Given the description of an element on the screen output the (x, y) to click on. 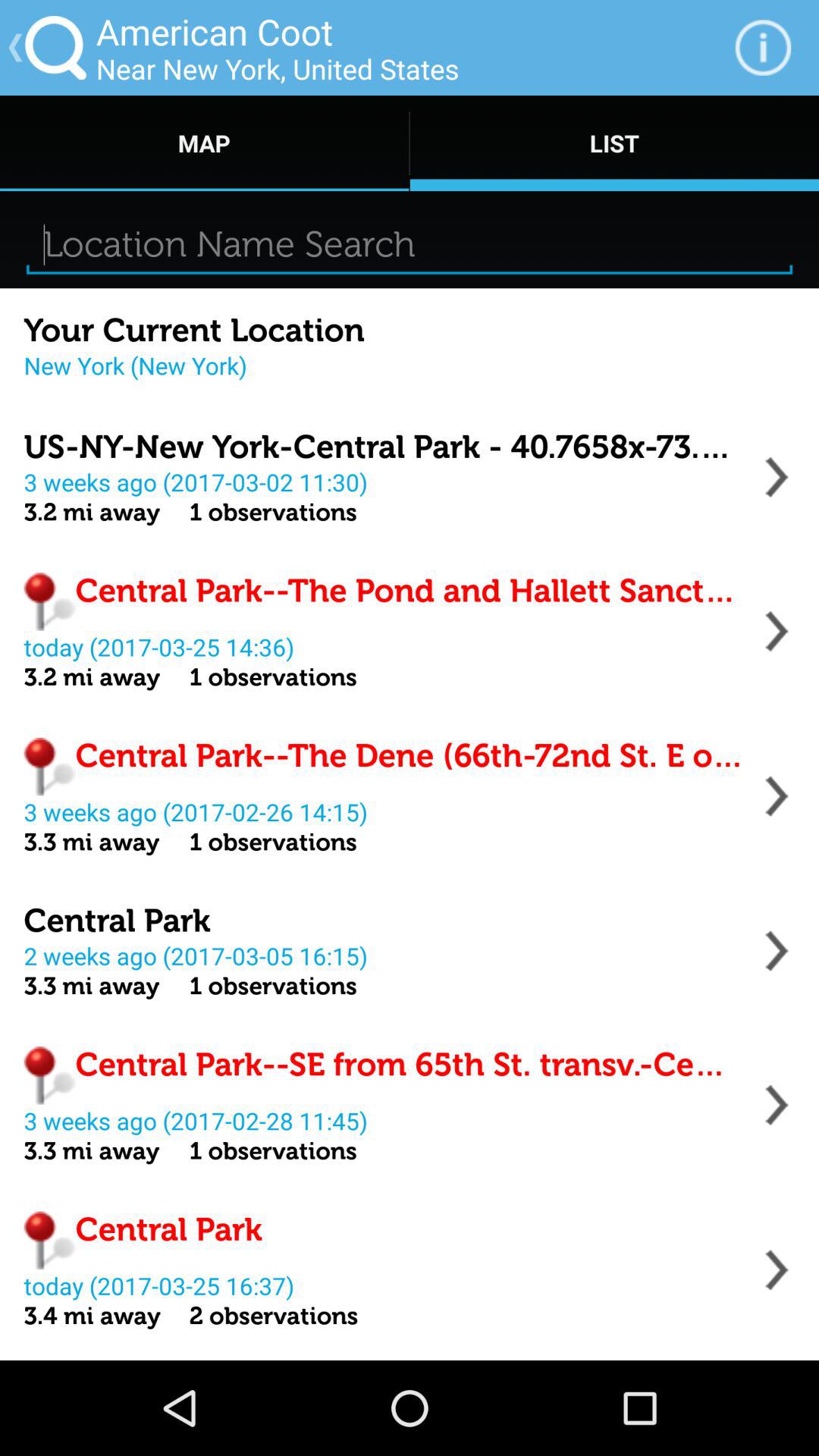
press icon next to the near new york app (763, 47)
